Given the description of an element on the screen output the (x, y) to click on. 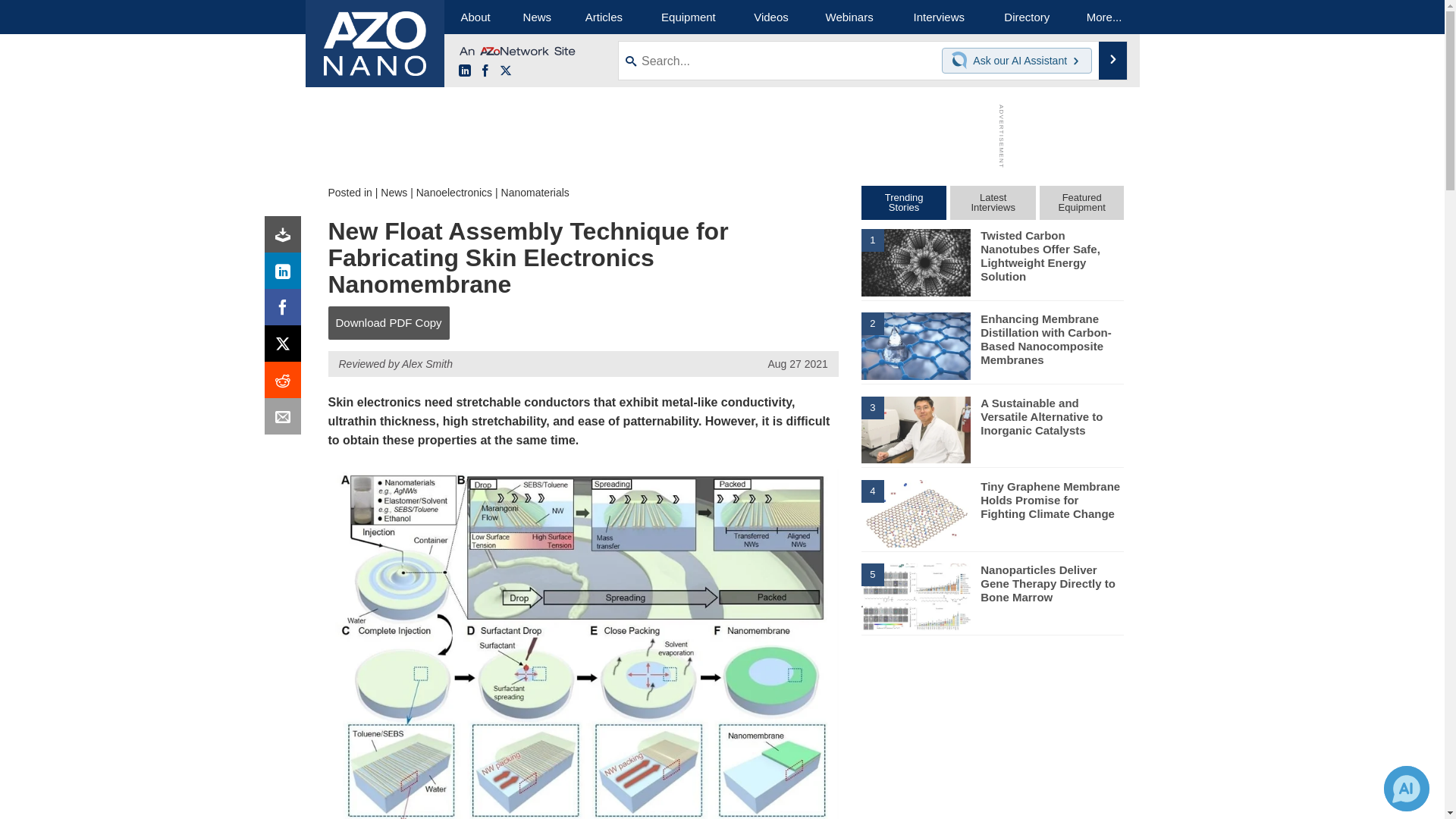
Chat with our AI Assistant Ask our AI Assistant (1017, 60)
Reddit (285, 384)
Nanoelectronics (454, 192)
LinkedIn (285, 275)
Nanomaterials (534, 192)
Equipment (688, 17)
News (393, 192)
About (475, 17)
Webinars (849, 17)
More... (1104, 17)
Articles (603, 17)
Facebook (285, 311)
Email (285, 420)
Interviews (939, 17)
X (285, 348)
